Given the description of an element on the screen output the (x, y) to click on. 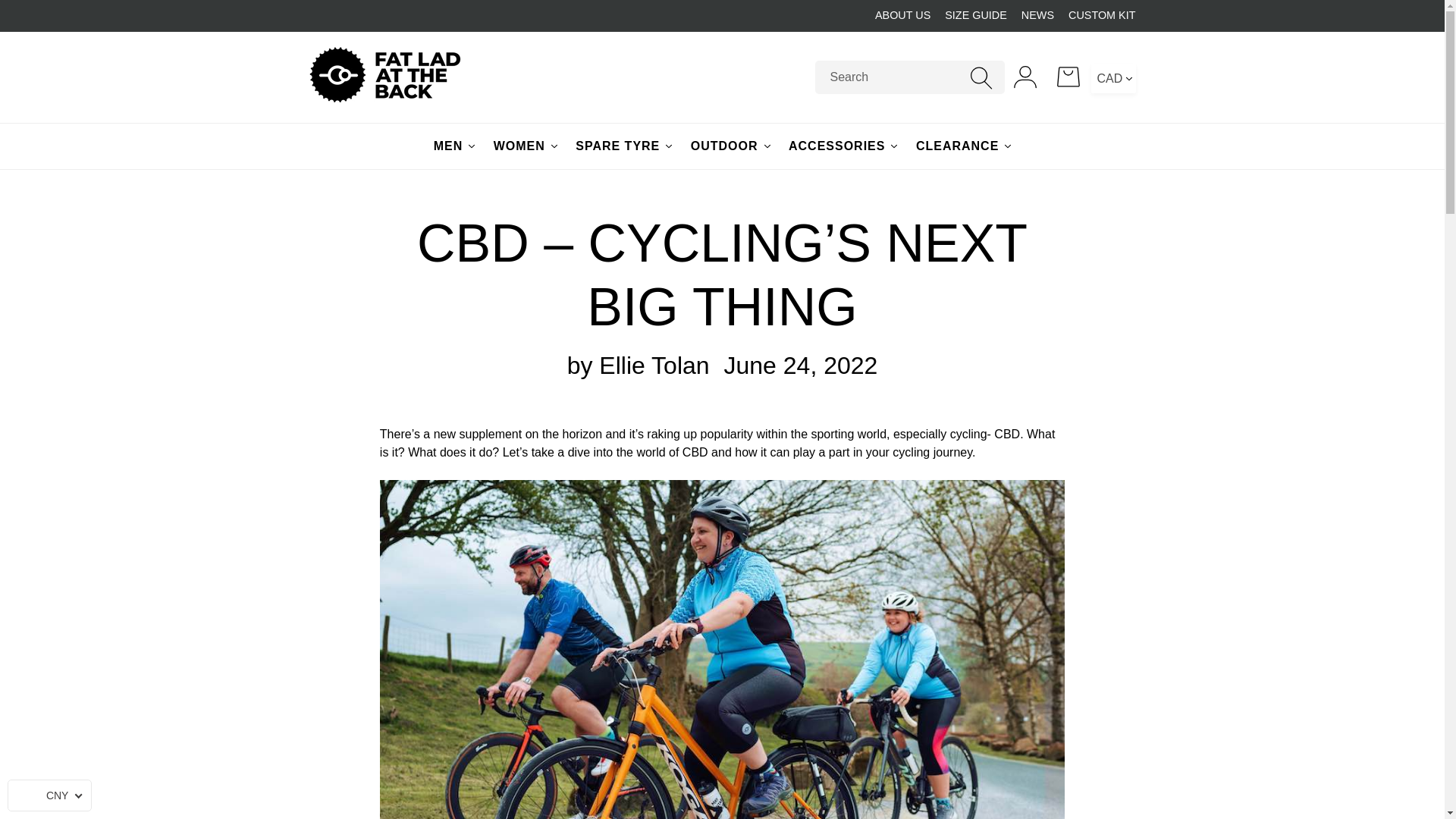
CUSTOM KIT (1101, 15)
Log in (1025, 76)
SIZE GUIDE (975, 15)
NEWS (1038, 15)
ABOUT US (902, 15)
My Bag (1069, 76)
Submit (981, 77)
